Given the description of an element on the screen output the (x, y) to click on. 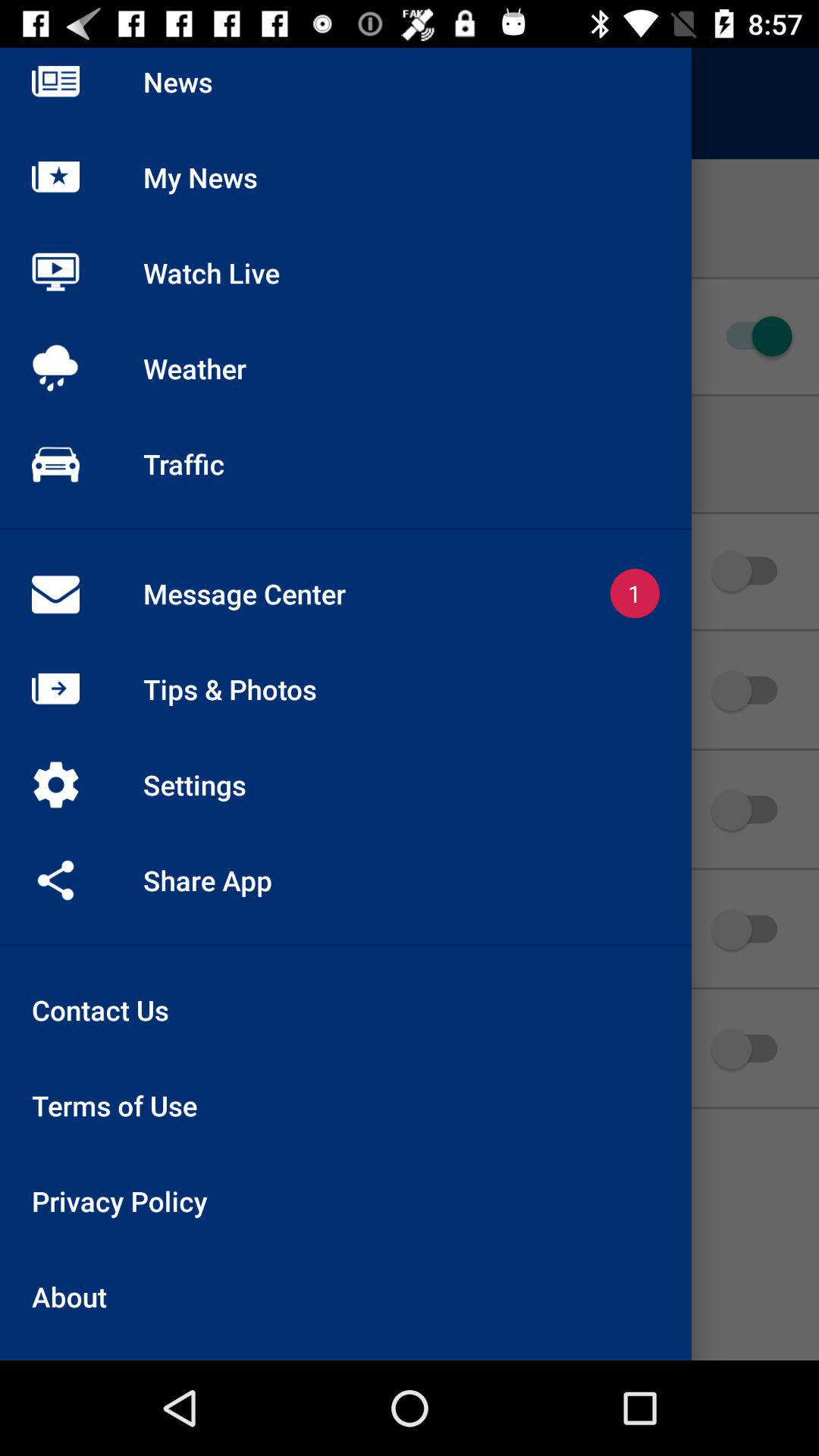
select the 2nd slide switch icon (751, 571)
click on the last turn onoff button (751, 1048)
